Given the description of an element on the screen output the (x, y) to click on. 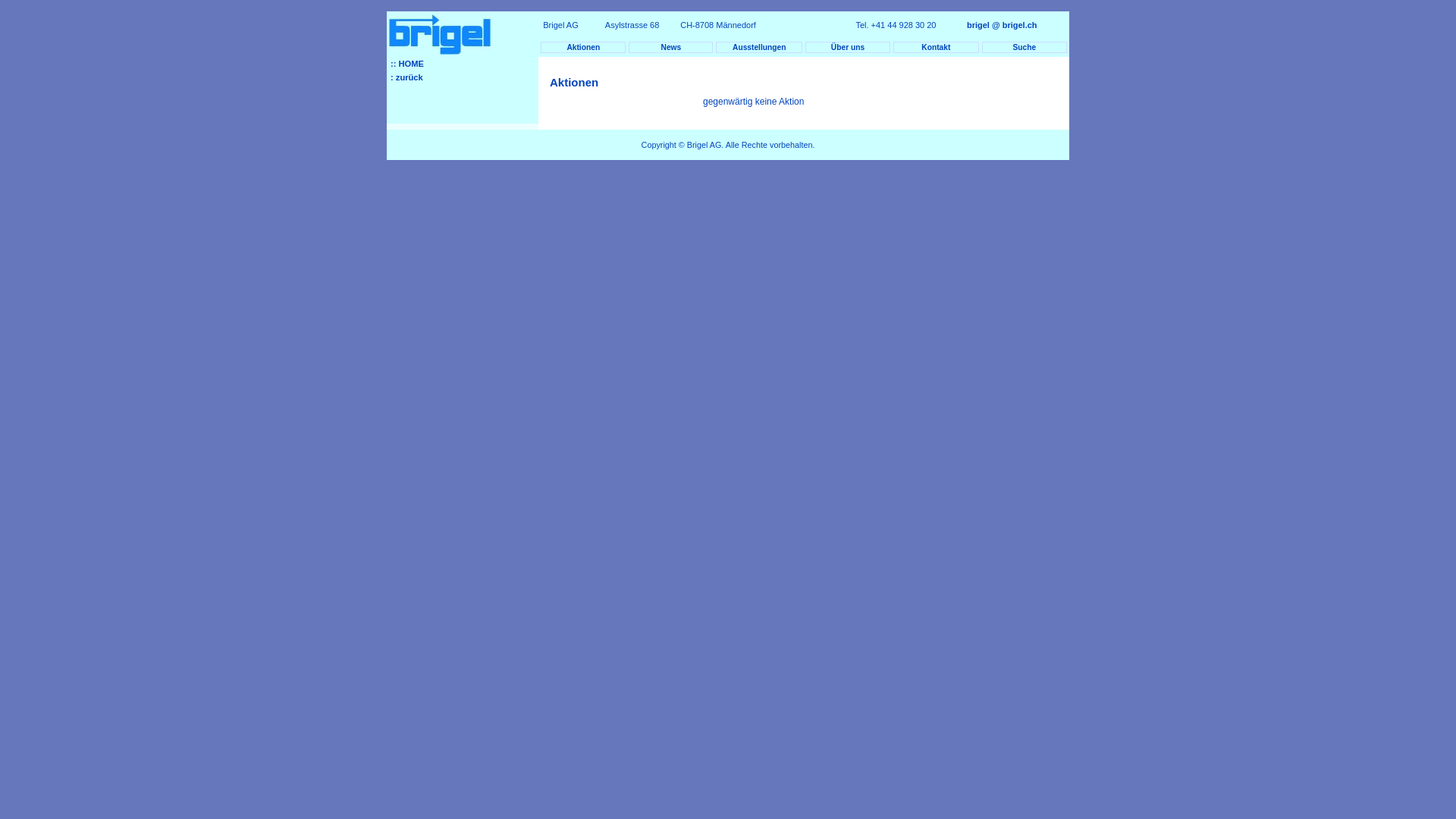
:: HOME Element type: text (462, 63)
News Element type: text (670, 47)
brigel @ brigel.ch Element type: text (1001, 24)
Ausstellungen Element type: text (758, 47)
Kontakt Element type: text (936, 47)
Aktionen Element type: text (582, 47)
Suche Element type: text (1024, 47)
